Given the description of an element on the screen output the (x, y) to click on. 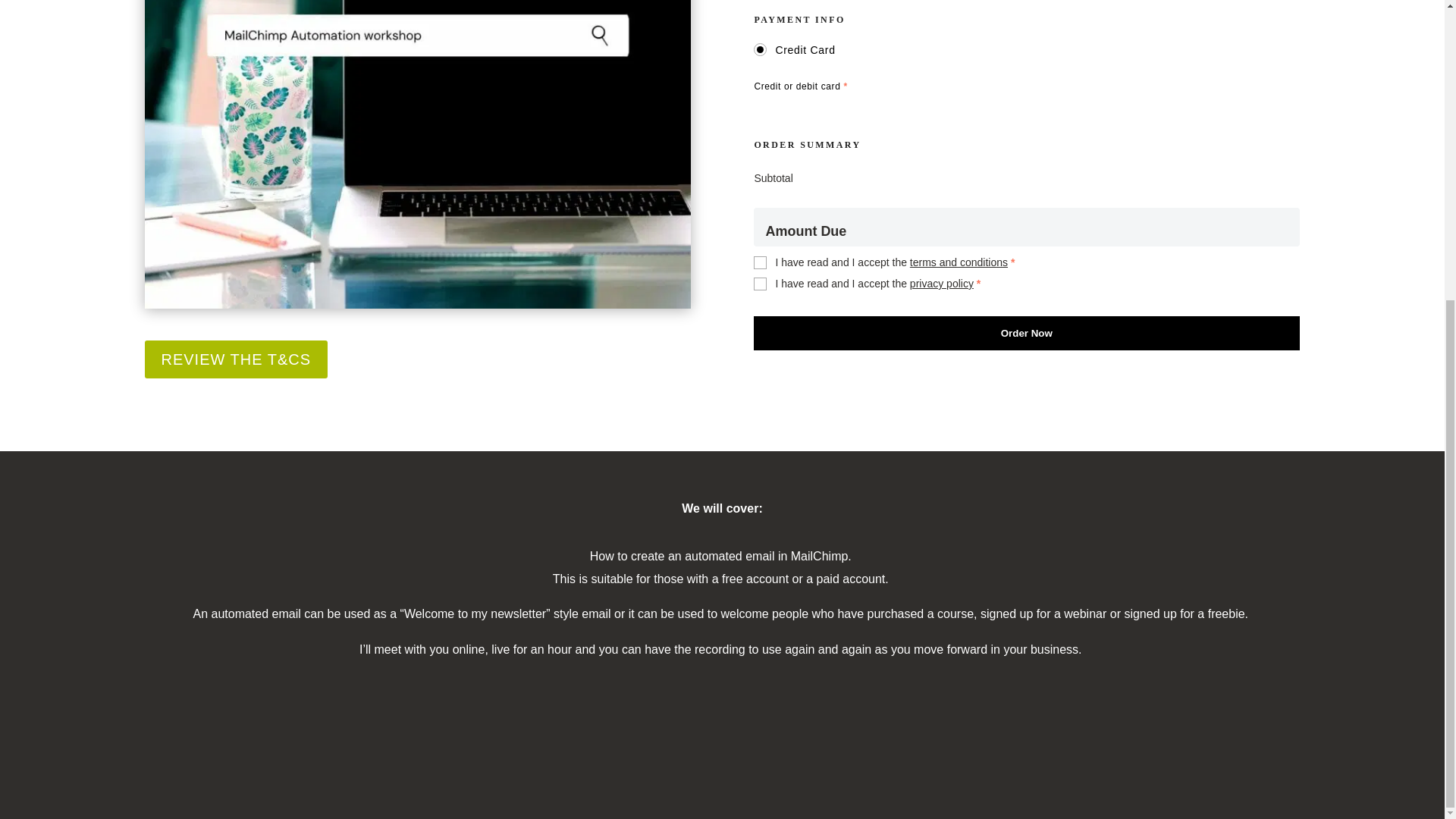
terms and conditions (958, 262)
privacy policy (942, 283)
Order Now (1027, 333)
